Given the description of an element on the screen output the (x, y) to click on. 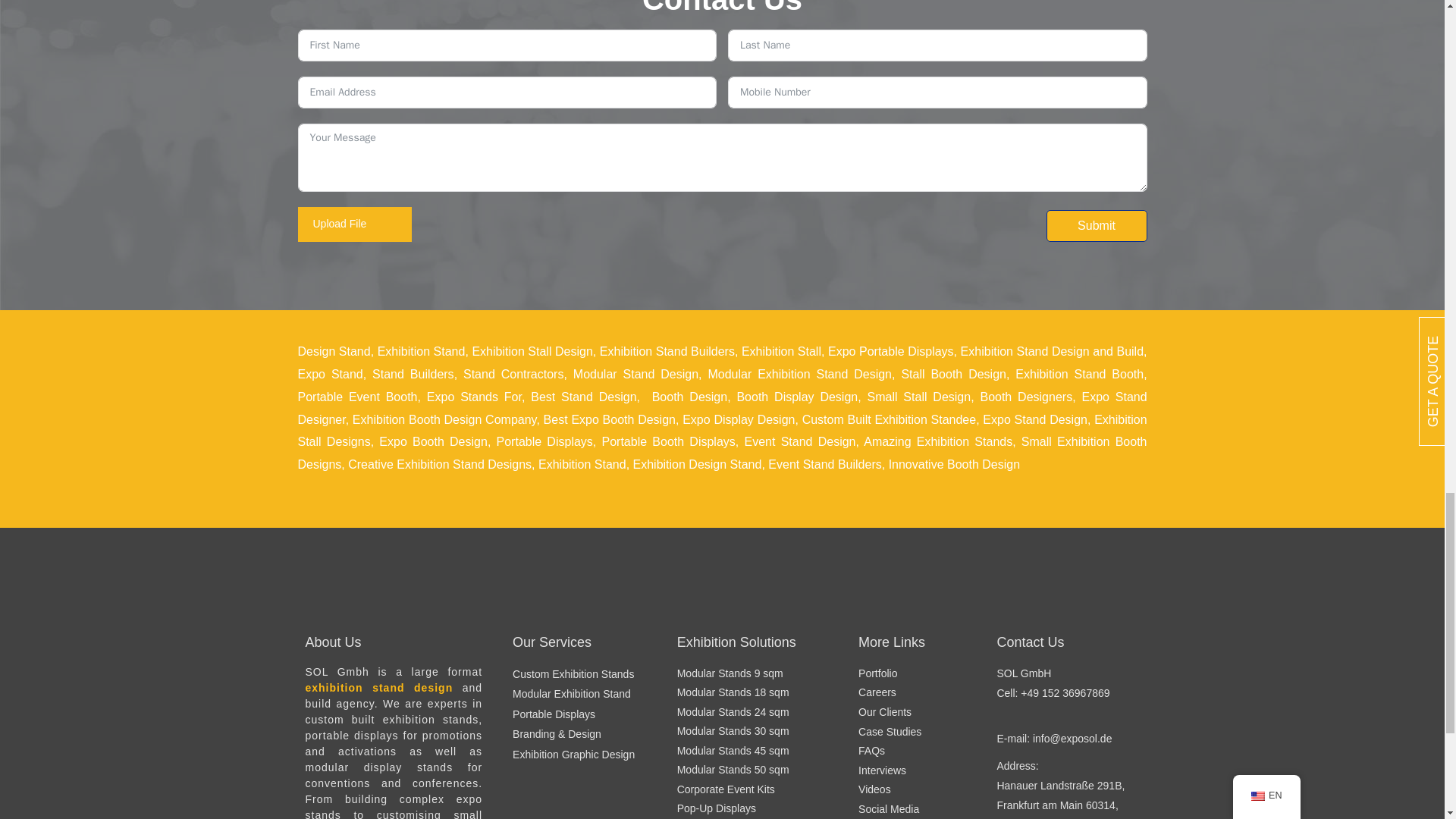
Design Stand (333, 350)
Exhibition Stand Design and Build (1051, 350)
Exhibition Stand Builders (667, 350)
Exhibition Stand (421, 350)
Submit (1096, 225)
Expo Stand (329, 373)
Stand Contractors (513, 373)
Exhibition Stall Design (531, 350)
Exhibition Stall (781, 350)
Stand Builders (413, 373)
Expo Portable Displays (890, 350)
